Given the description of an element on the screen output the (x, y) to click on. 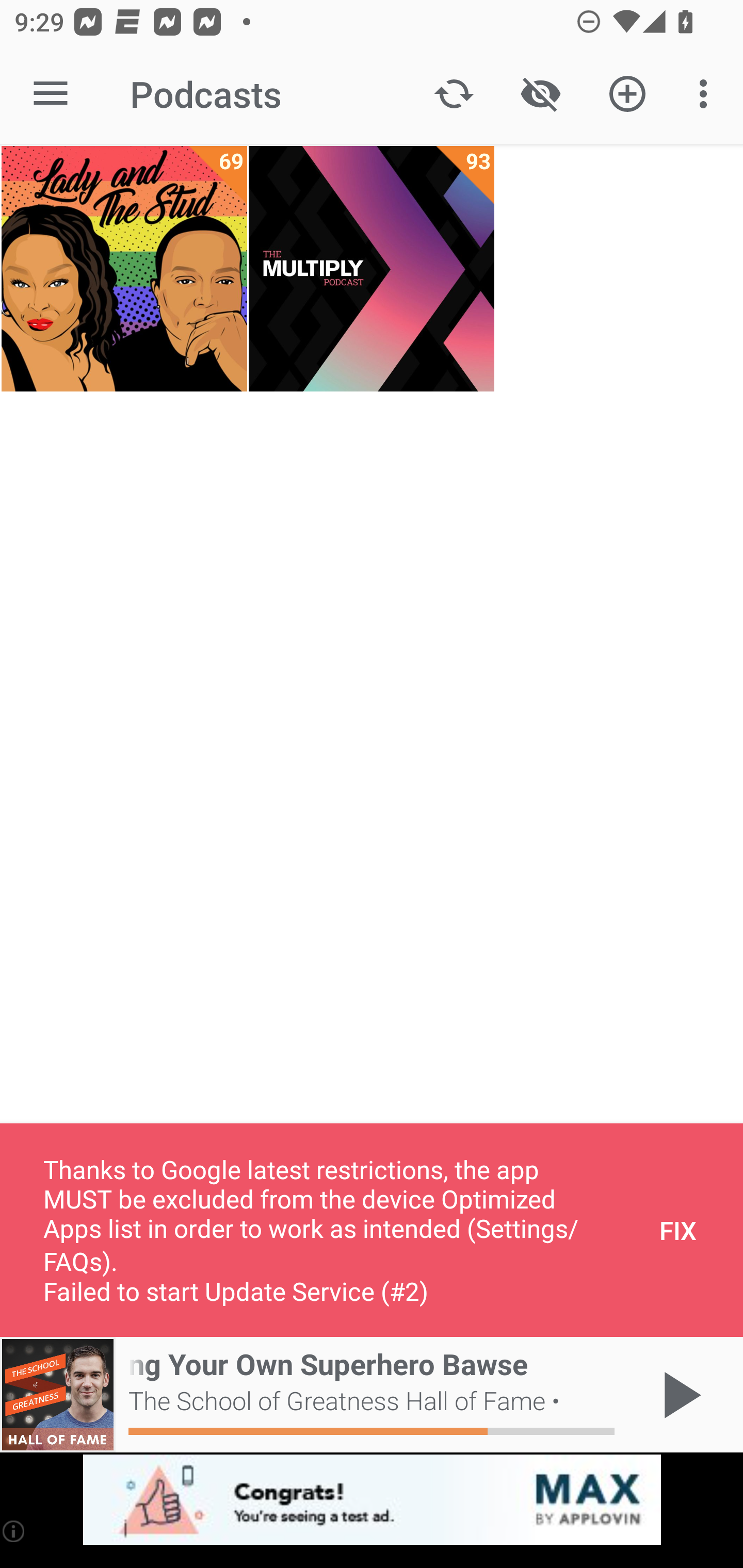
Open navigation sidebar (50, 93)
Update (453, 93)
Show / Hide played content (540, 93)
Add new Podcast (626, 93)
More options (706, 93)
Lady and The Stud 69 (124, 268)
The Multiply Podcast 93 (371, 268)
FIX (677, 1229)
Play / Pause (677, 1394)
app-monetization (371, 1500)
(i) (14, 1531)
